Given the description of an element on the screen output the (x, y) to click on. 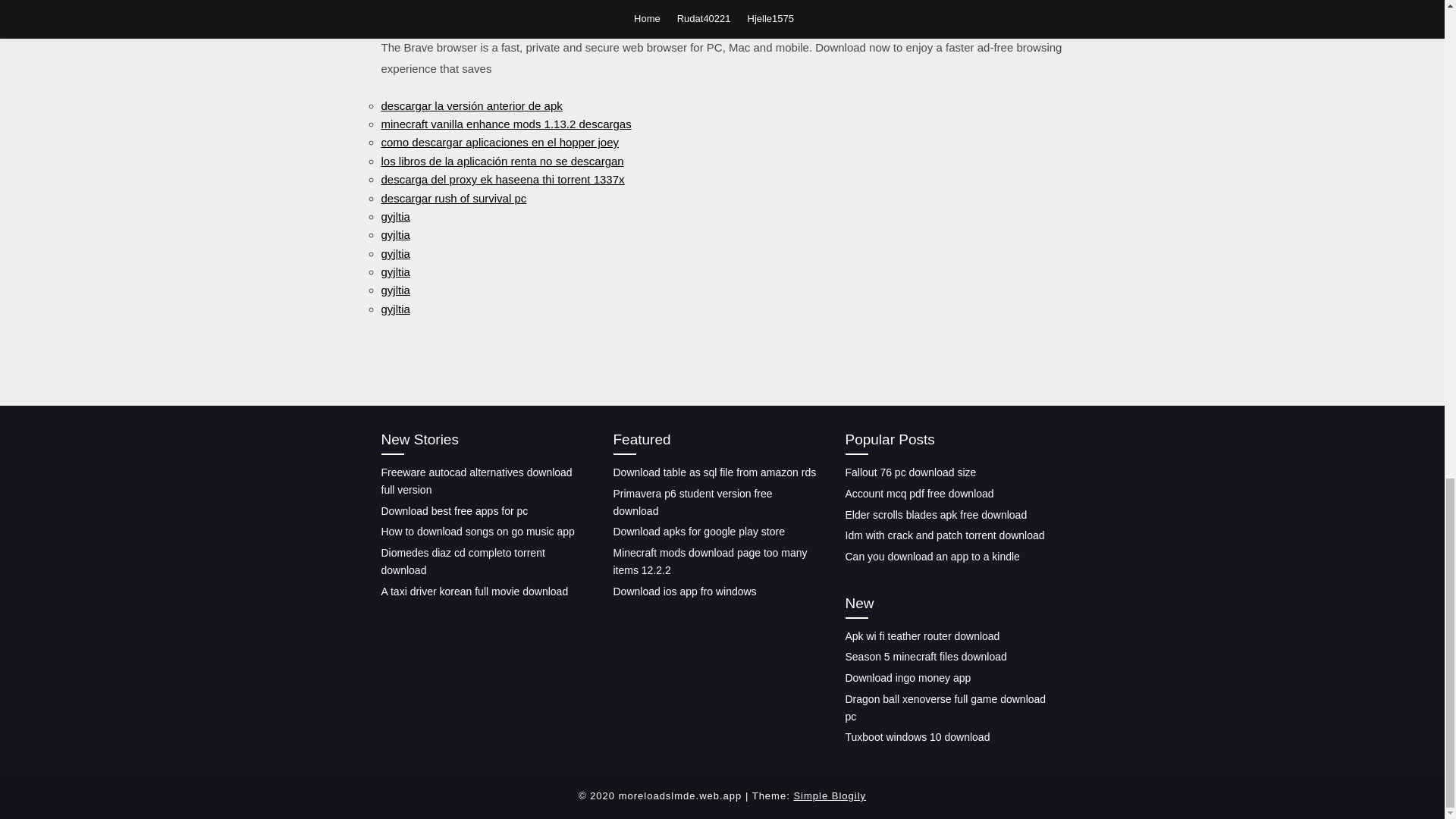
como descargar aplicaciones en el hopper joey (499, 141)
descarga del proxy ek haseena thi torrent 1337x (502, 178)
How to download songs on go music app (476, 531)
Diomedes diaz cd completo torrent download (462, 561)
Can you download an app to a kindle (931, 556)
Download table as sql file from amazon rds (713, 472)
gyjltia (394, 234)
A taxi driver korean full movie download (473, 590)
Tuxboot windows 10 download (917, 736)
gyjltia (394, 215)
